Given the description of an element on the screen output the (x, y) to click on. 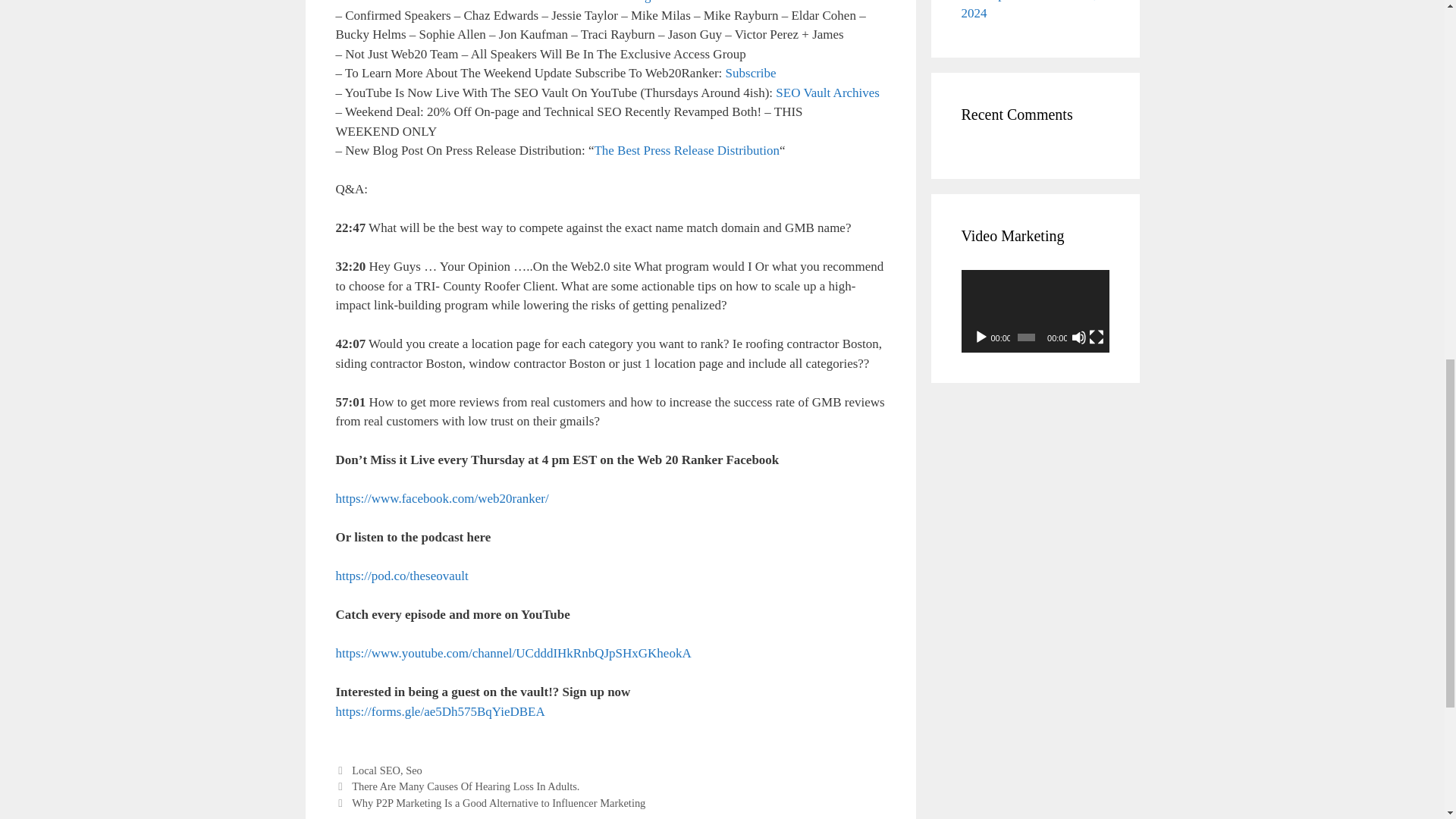
Seo (414, 770)
Local SEO (376, 770)
Play (981, 337)
Local Marketing Mastermind (640, 1)
There Are Many Causes Of Hearing Loss In Adults. (465, 786)
The Best Press Release Distribution (686, 150)
Mute (1078, 337)
Fullscreen (1096, 337)
SEO Vault Archives (827, 92)
